Given the description of an element on the screen output the (x, y) to click on. 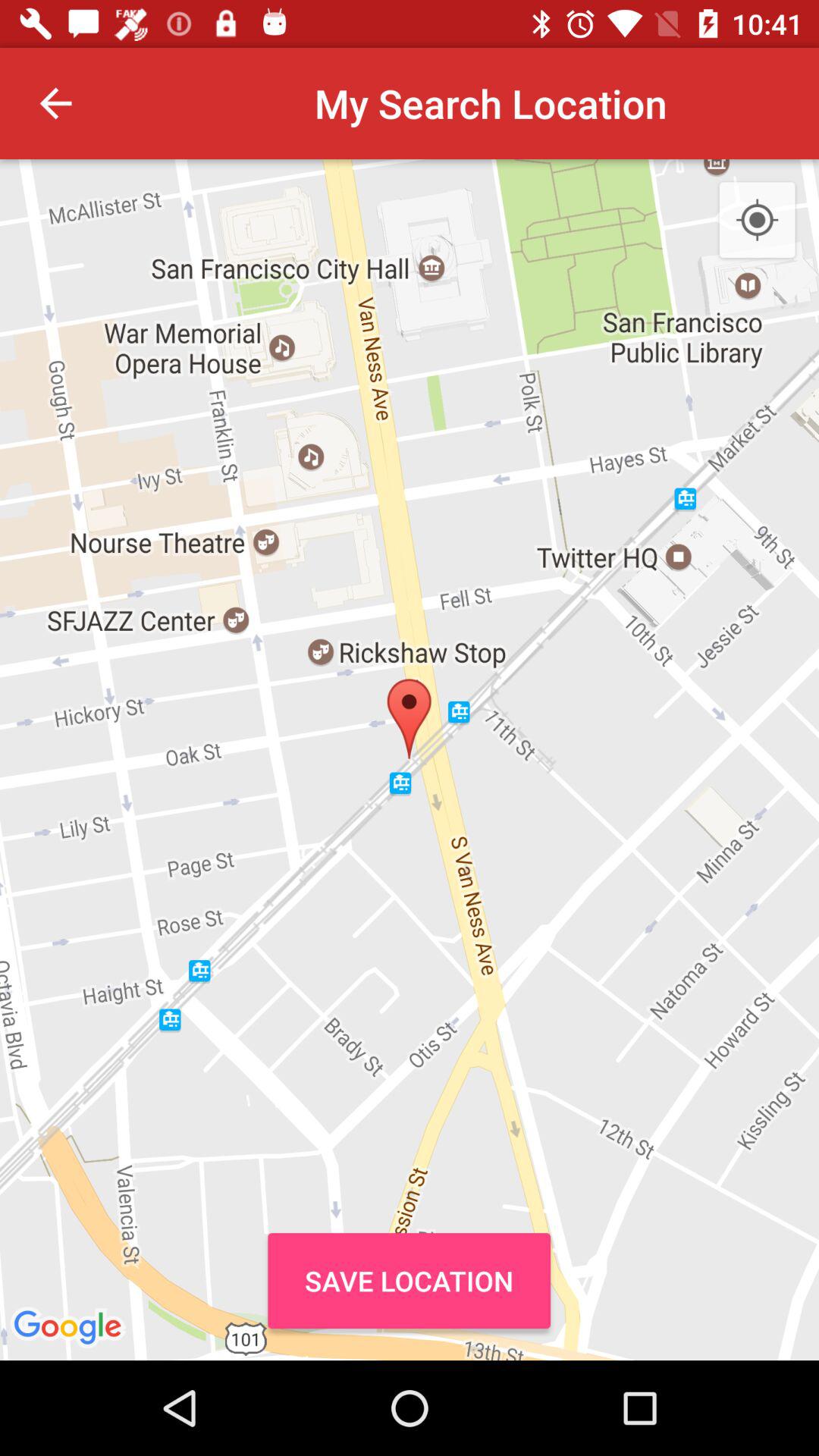
click the save location (408, 1280)
